Given the description of an element on the screen output the (x, y) to click on. 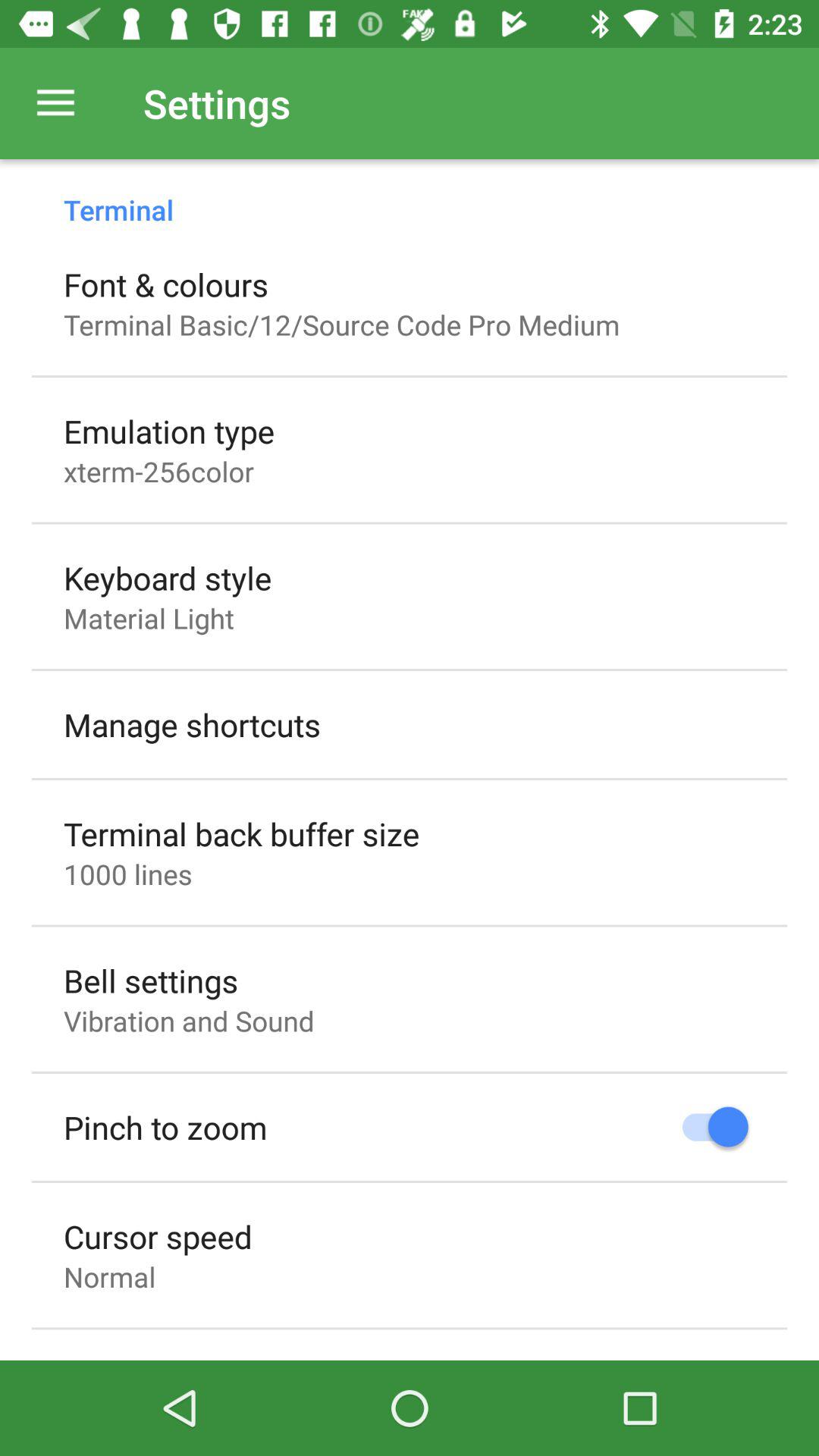
swipe until the normal item (109, 1276)
